Given the description of an element on the screen output the (x, y) to click on. 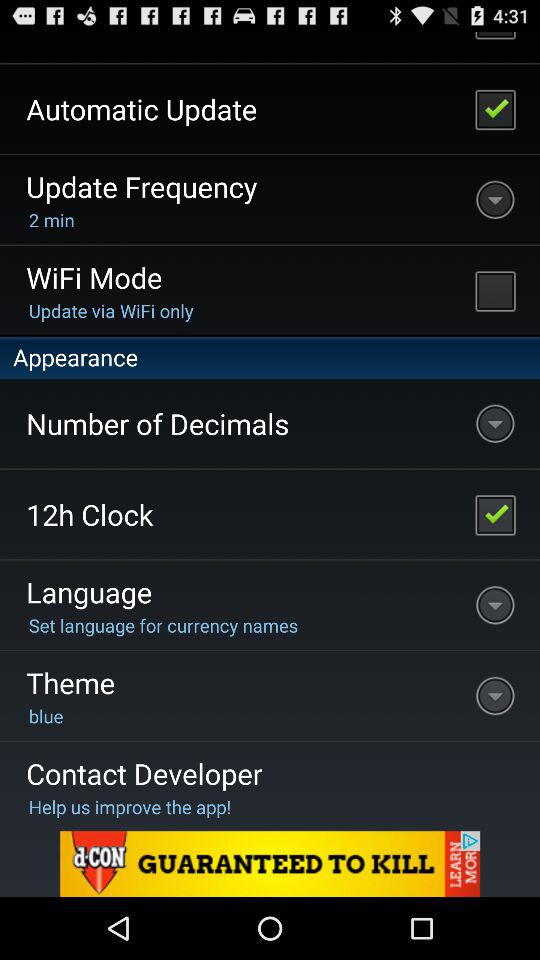
turn on wifi mode (495, 290)
